Given the description of an element on the screen output the (x, y) to click on. 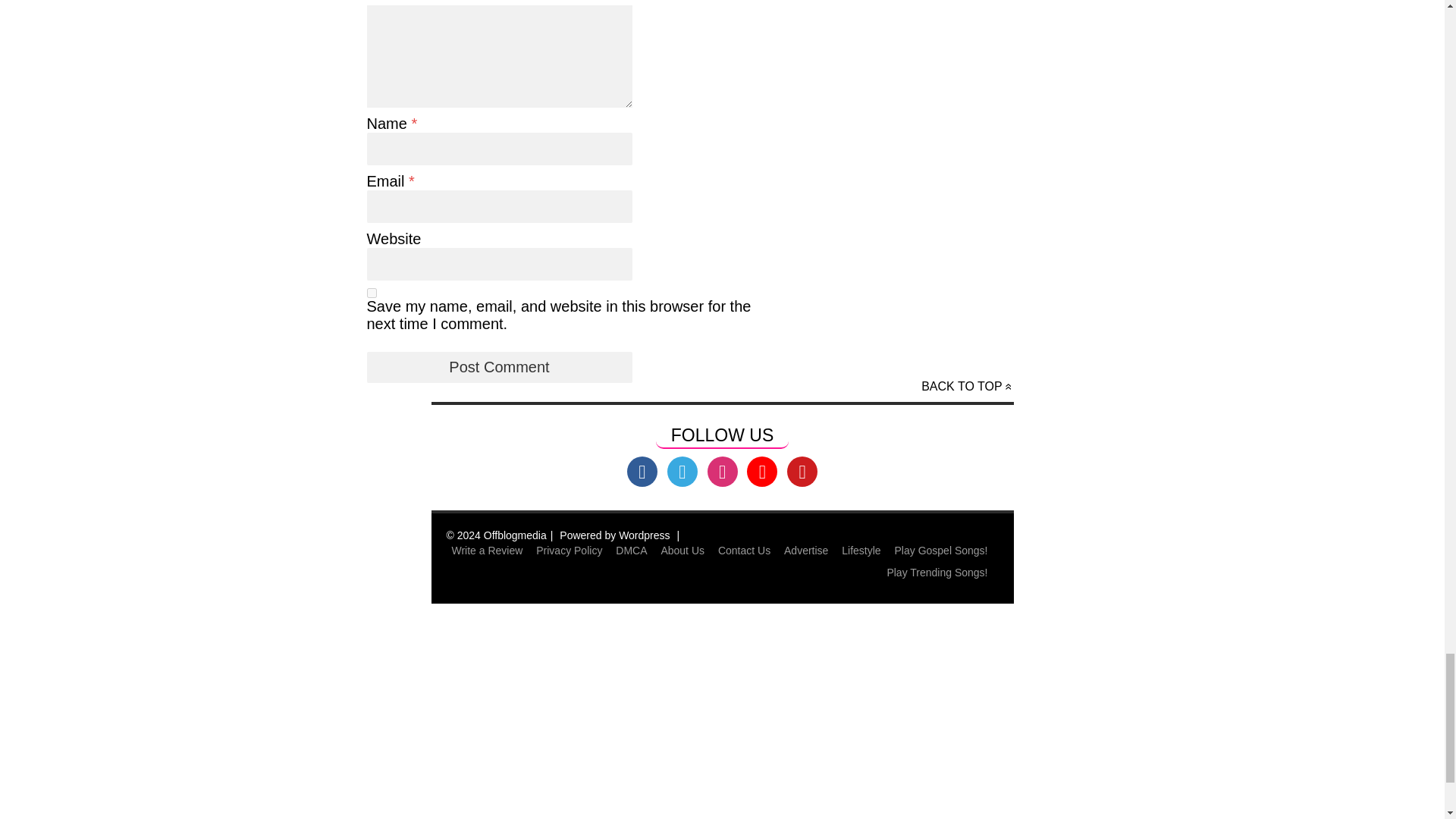
yes (371, 293)
Post Comment (498, 367)
